Given the description of an element on the screen output the (x, y) to click on. 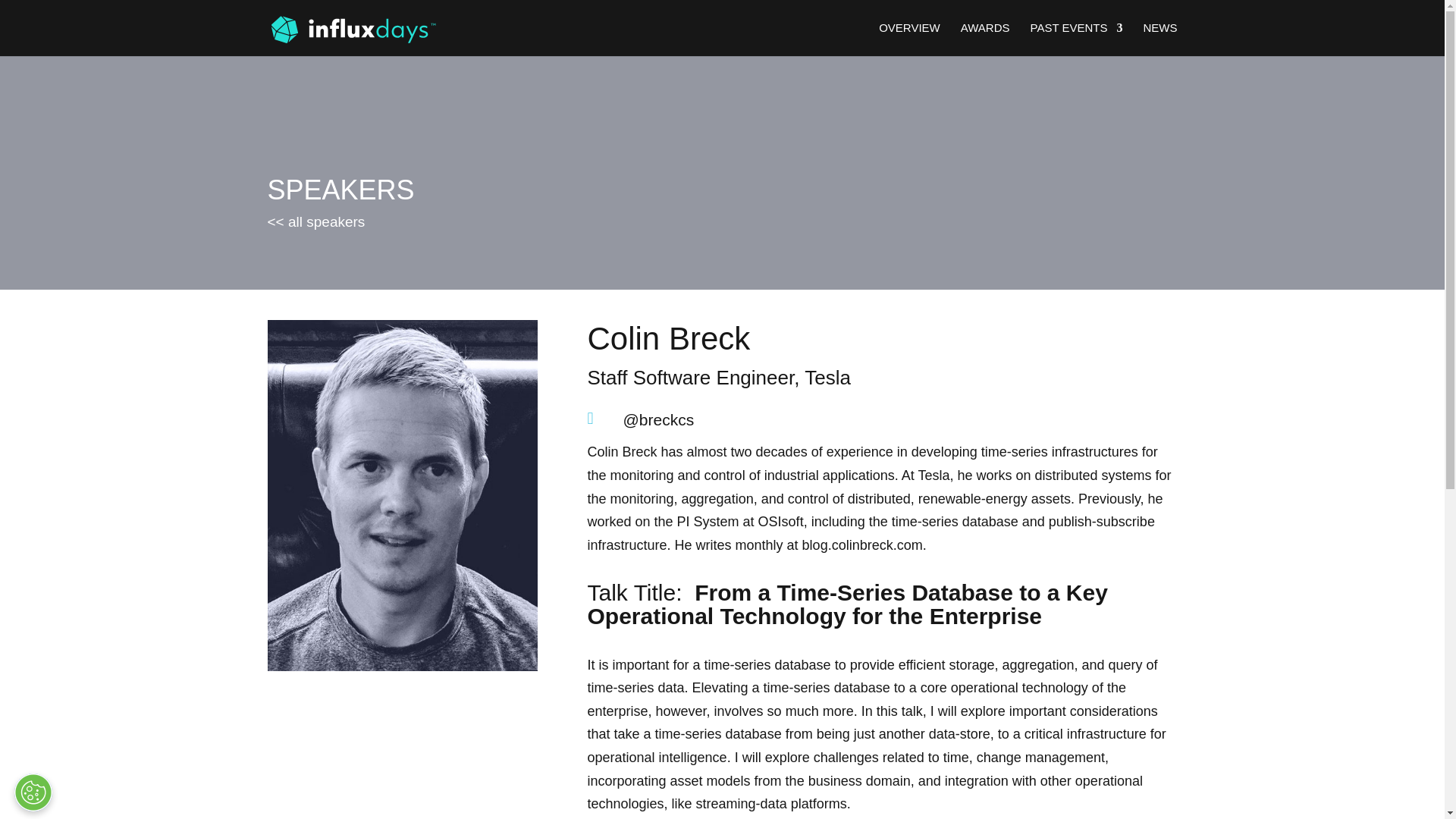
AWARDS (985, 39)
Cookies Settings (33, 792)
NEWS (1159, 39)
OVERVIEW (909, 39)
blog.colinbreck.com (862, 544)
PAST EVENTS (1075, 39)
